Given the description of an element on the screen output the (x, y) to click on. 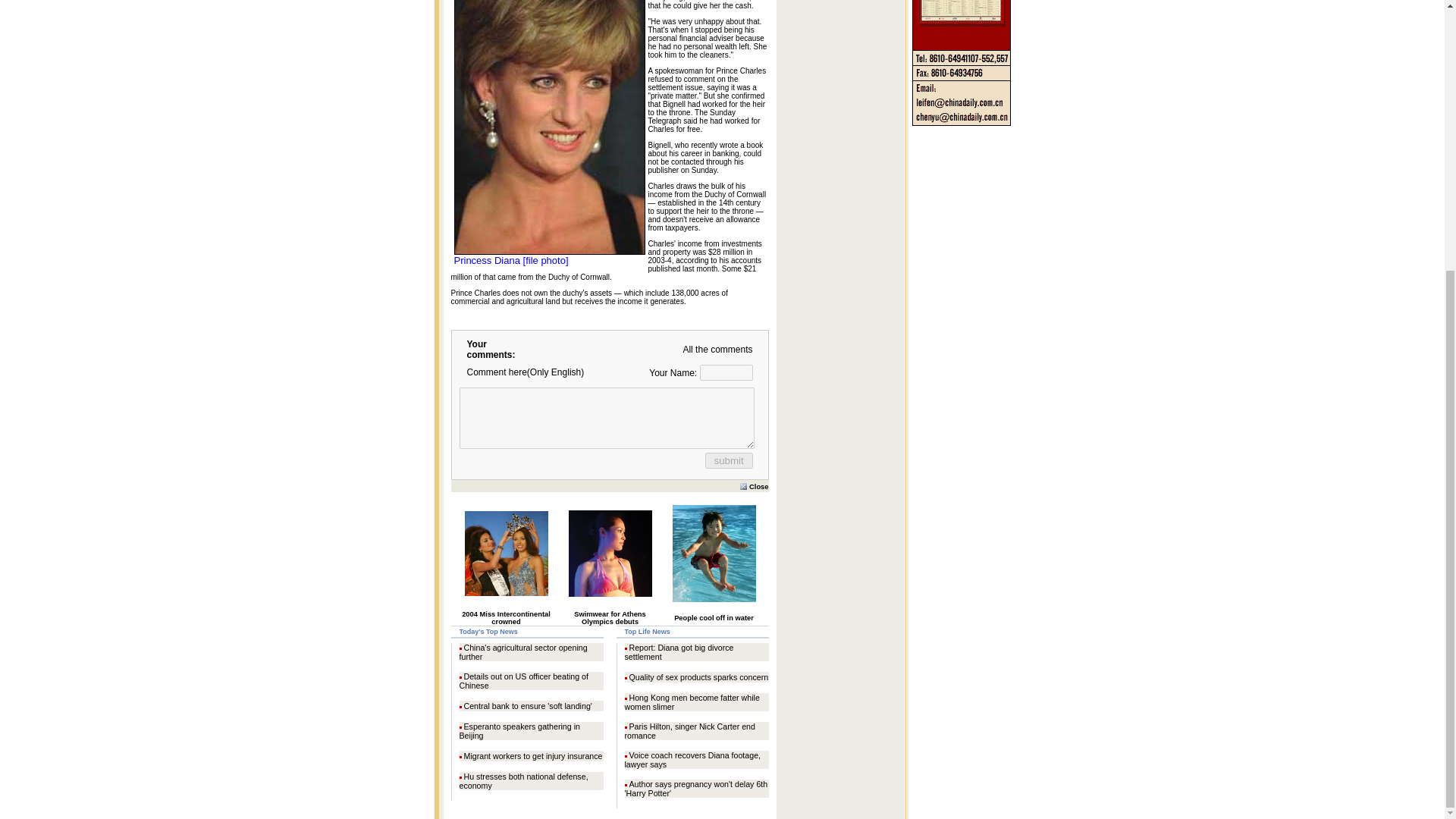
Hu stresses both national defense, economy (524, 781)
 submit  (728, 459)
Central bank to ensure 'soft landing' (528, 705)
Report: Diana got big divorce settlement (678, 651)
Details out on US officer beating of Chinese (524, 680)
Quality of sex products sparks concern (698, 676)
All the comments (717, 348)
Author says pregnancy won't delay 6th 'Harry Potter' (696, 788)
Esperanto speakers gathering in Beijing (519, 730)
Close (753, 485)
 submit  (728, 459)
Paris Hilton, singer Nick Carter end romance (689, 730)
Voice coach recovers Diana footage, lawyer says (692, 760)
Hong Kong men become fatter while women slimer (692, 701)
China's agricultural sector opening further (524, 651)
